Given the description of an element on the screen output the (x, y) to click on. 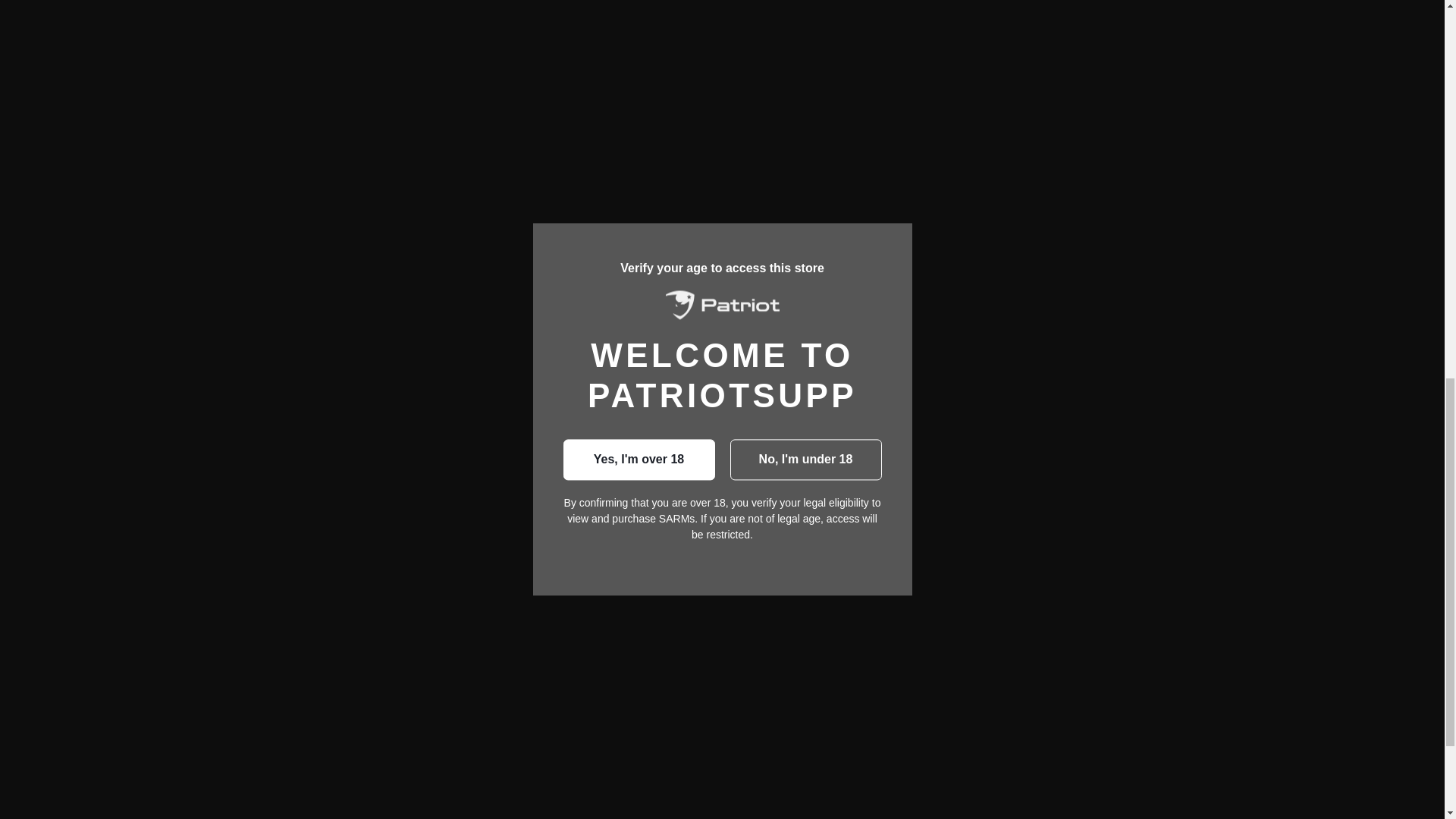
chemical substances (914, 275)
21CFR (922, 142)
research purposes (769, 275)
